Given the description of an element on the screen output the (x, y) to click on. 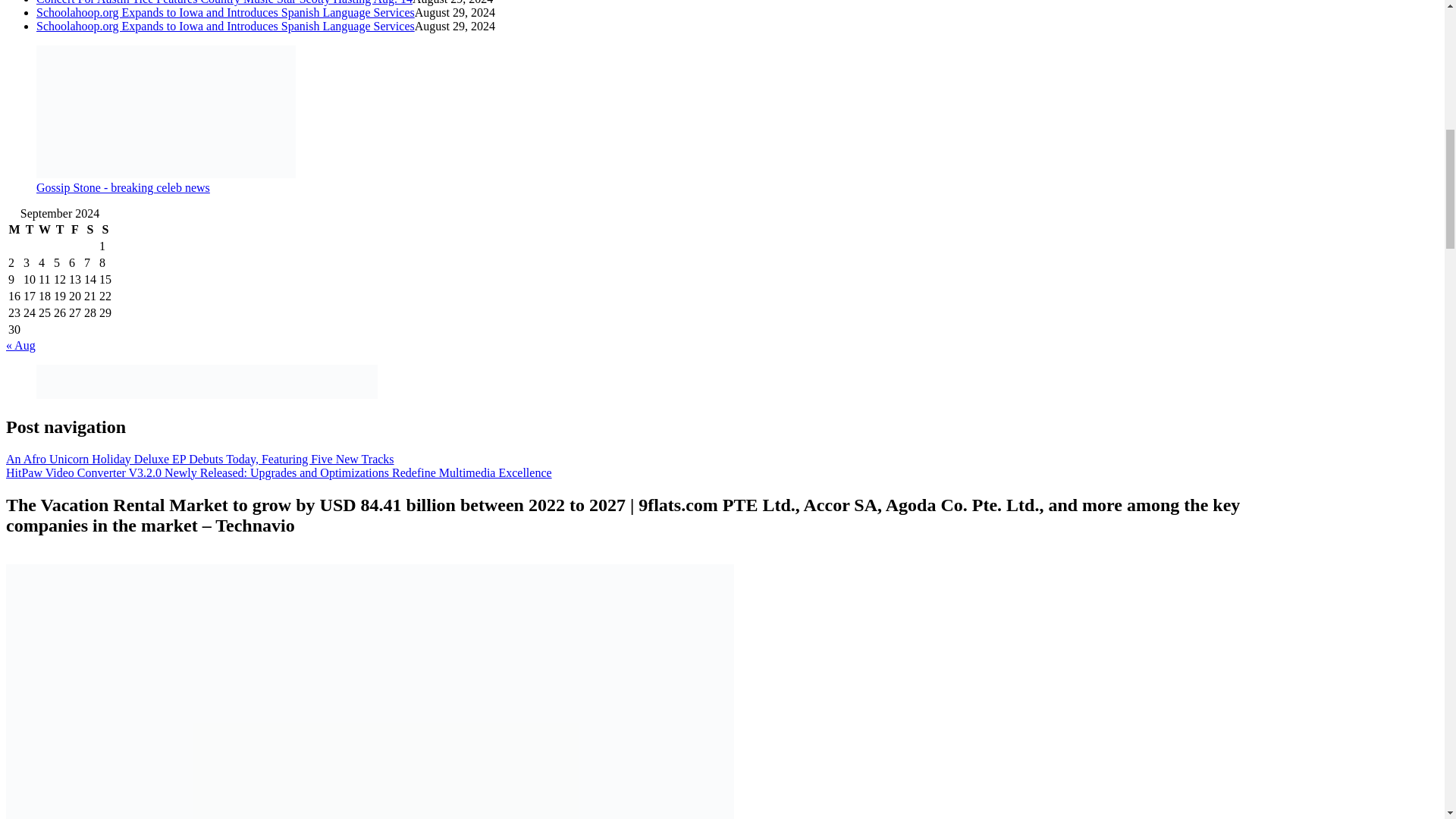
Gossip Stone - breaking celeb news (122, 187)
Wednesday (43, 229)
Monday (14, 229)
Saturday (89, 229)
Sunday (105, 229)
Friday (74, 229)
Tuesday (29, 229)
